Given the description of an element on the screen output the (x, y) to click on. 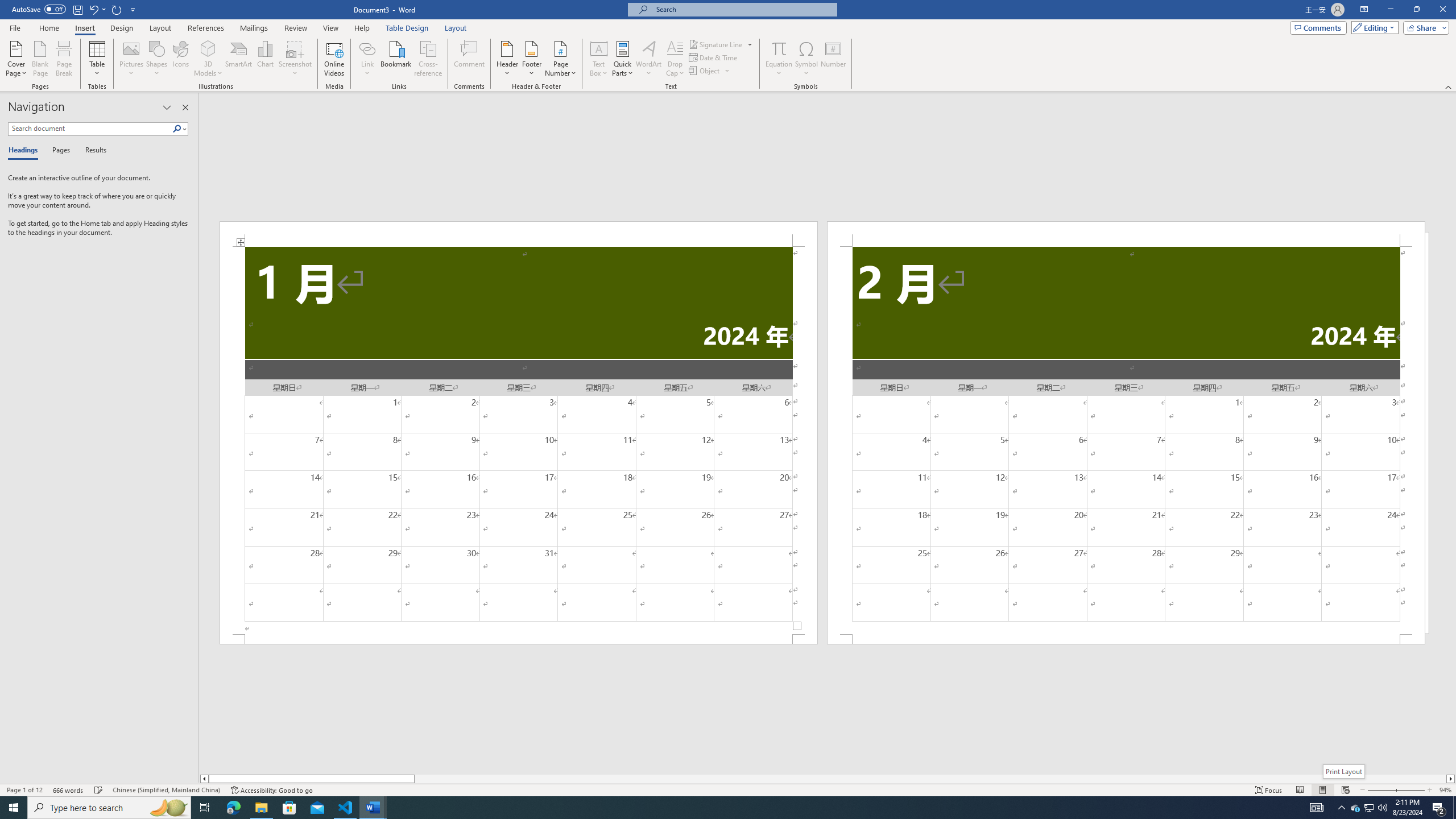
Microsoft search (742, 9)
Date & Time... (714, 56)
Page Number Page 1 of 12 (24, 790)
Equation (778, 48)
Link (367, 58)
Footer (531, 58)
Screenshot (295, 58)
